Given the description of an element on the screen output the (x, y) to click on. 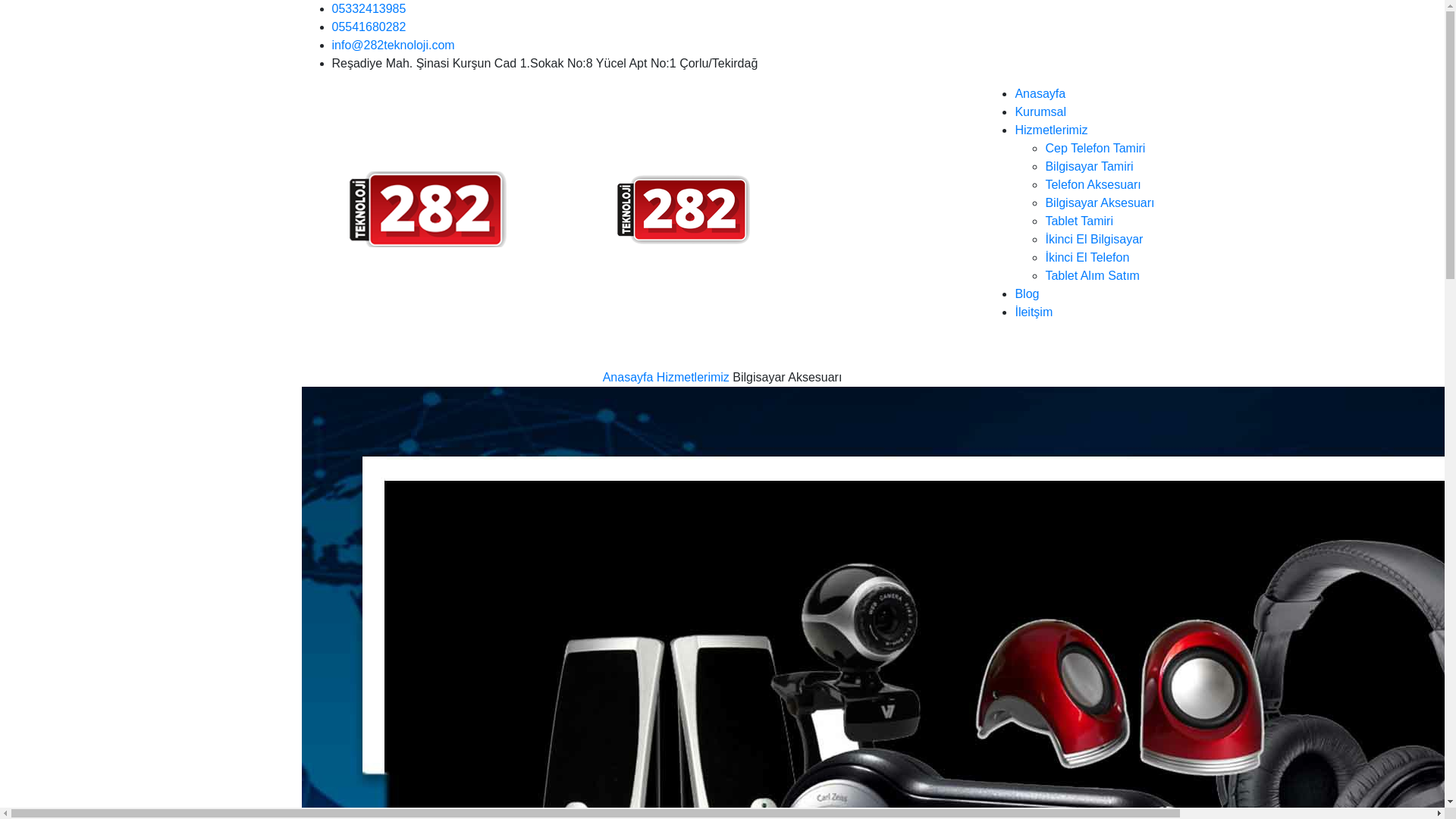
Cep Telefon Tamiri Element type: text (1094, 147)
Blog Element type: text (1026, 293)
Tablet Tamiri Element type: text (1078, 220)
Hizmetlerimiz Element type: text (692, 376)
info@282teknoloji.com Element type: text (393, 44)
05541680282 Element type: text (369, 26)
Anasayfa Element type: text (1039, 93)
Anasayfa Element type: text (627, 376)
05332413985 Element type: text (369, 8)
Kurumsal Element type: text (1040, 111)
Hizmetlerimiz Element type: text (1050, 129)
Bilgisayar Tamiri Element type: text (1088, 166)
